Given the description of an element on the screen output the (x, y) to click on. 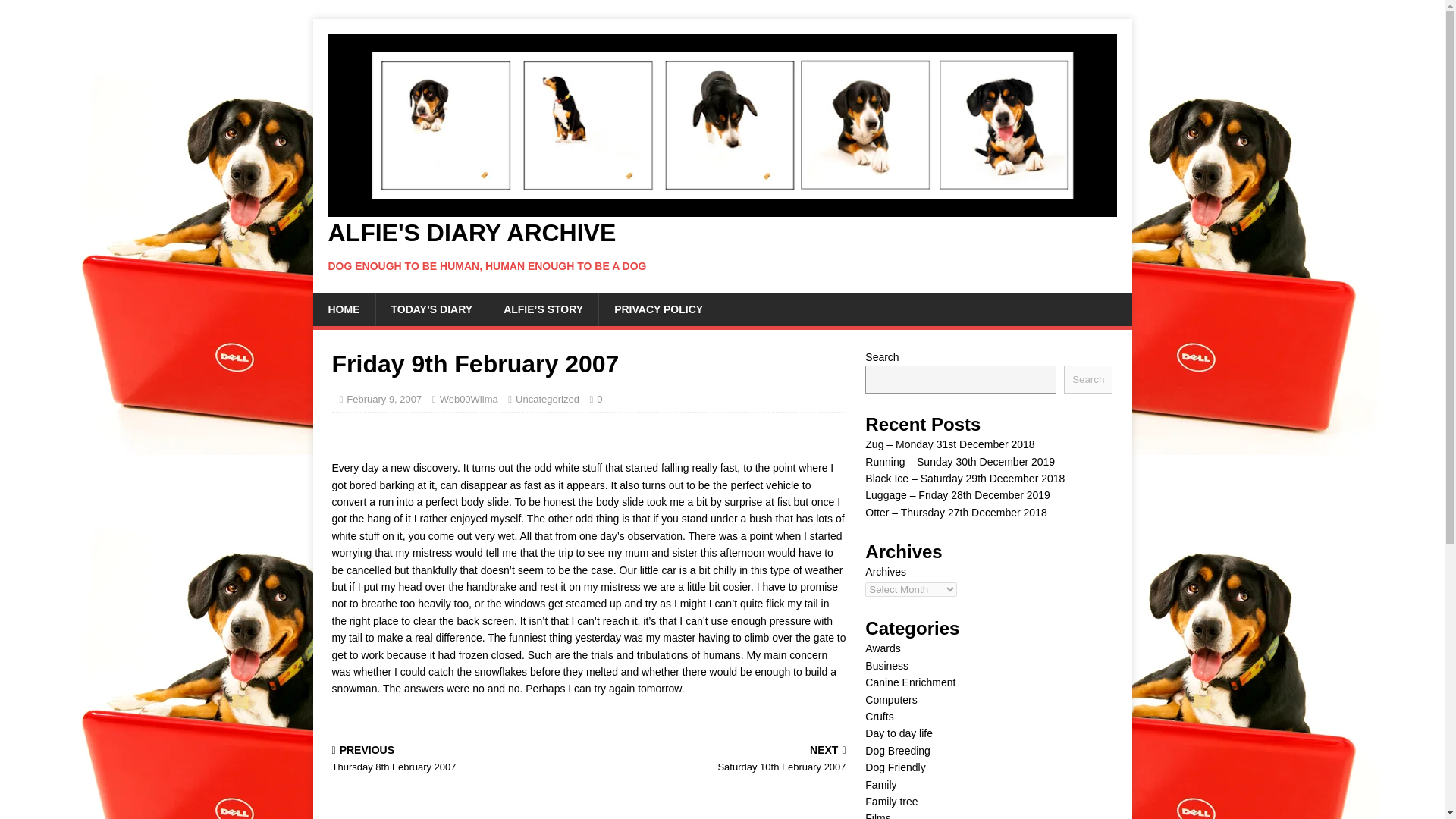
Family (880, 784)
Dog Breeding (897, 750)
HOME (343, 309)
Alfie's Diary Archive (721, 245)
Awards (881, 648)
Day to day life (457, 759)
Family tree (898, 733)
Crufts (890, 801)
Dog Friendly (878, 716)
Web00Wilma (894, 767)
February 9, 2007 (468, 398)
Search (720, 759)
